Given the description of an element on the screen output the (x, y) to click on. 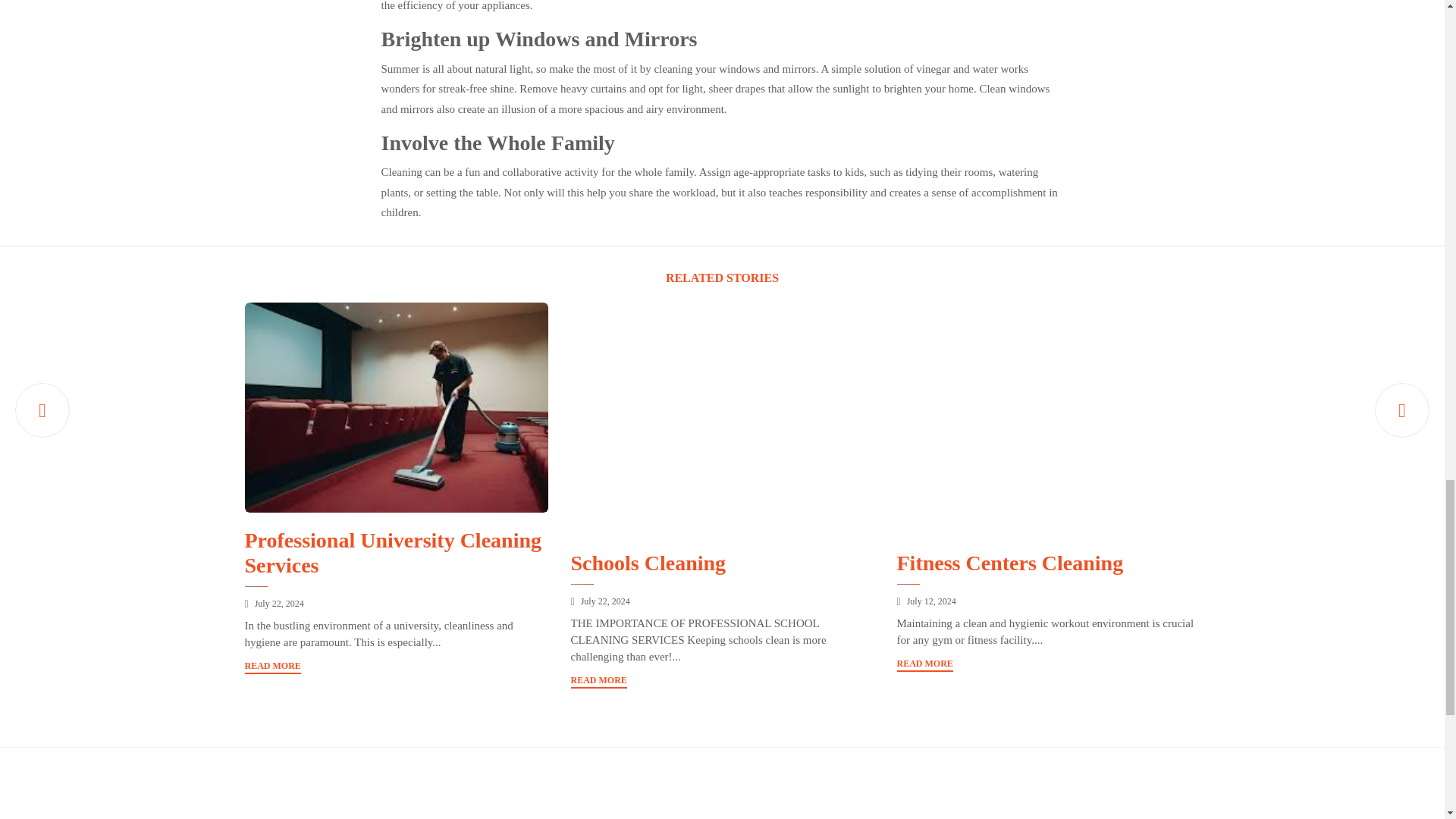
Schools Cleaning (605, 601)
Professional University Cleaning Services (392, 553)
Schools Cleaning (721, 419)
Fitness Centers Cleaning (1047, 419)
Professional University Cleaning Services (279, 603)
Professional University Cleaning Services (395, 407)
Schools Cleaning (647, 562)
